Given the description of an element on the screen output the (x, y) to click on. 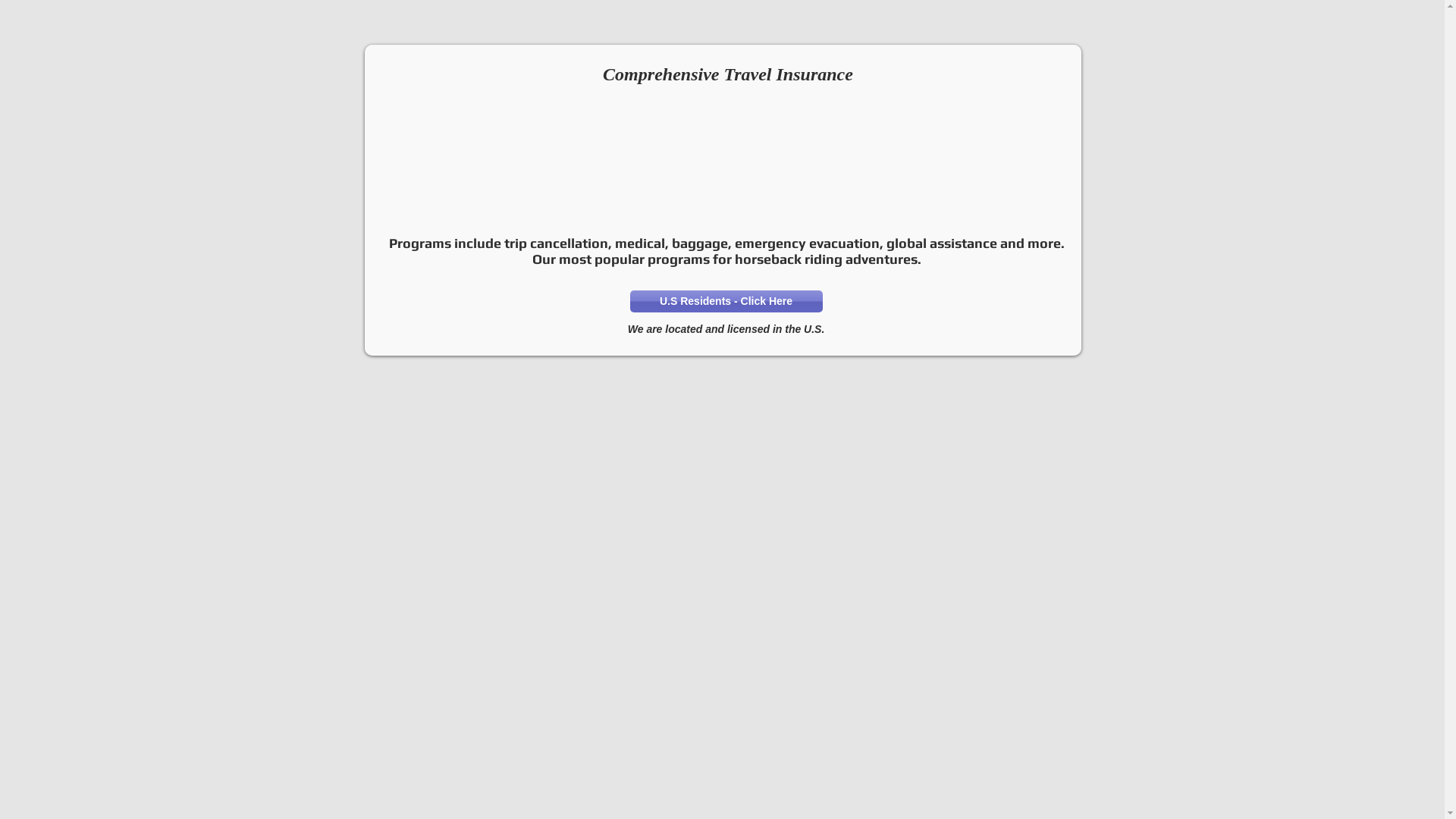
HT-logo-crop.gif Element type: hover (465, 76)
ht-2.jpg Element type: hover (816, 168)
ht-3.jpg Element type: hover (989, 168)
U.S Residents - Click Here Element type: text (725, 301)
ht-1.jpg Element type: hover (638, 168)
